Given the description of an element on the screen output the (x, y) to click on. 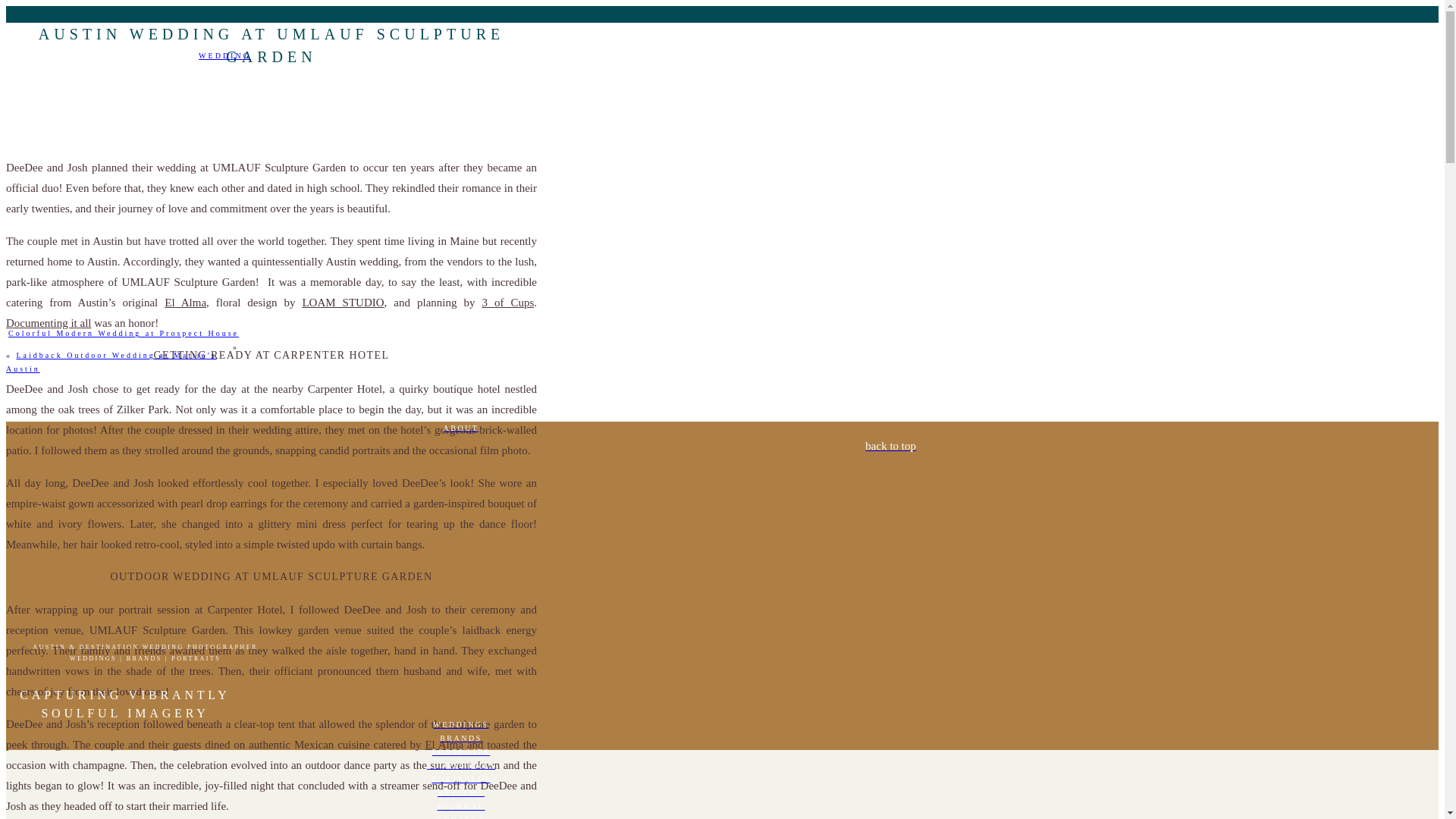
ELOPEMENTS (460, 766)
REVIEWS (460, 793)
WEDDINGS (460, 725)
WEDDING (224, 55)
PORTRAITS (460, 752)
3 of Cups (507, 302)
Documenting it all (47, 322)
ABOUT (460, 427)
El Alma (185, 302)
El Alma (444, 744)
Colorful Modern Wedding at Prospect House (123, 333)
back to top (460, 445)
LOAM STUDIO (342, 302)
BRANDS (460, 738)
